Given the description of an element on the screen output the (x, y) to click on. 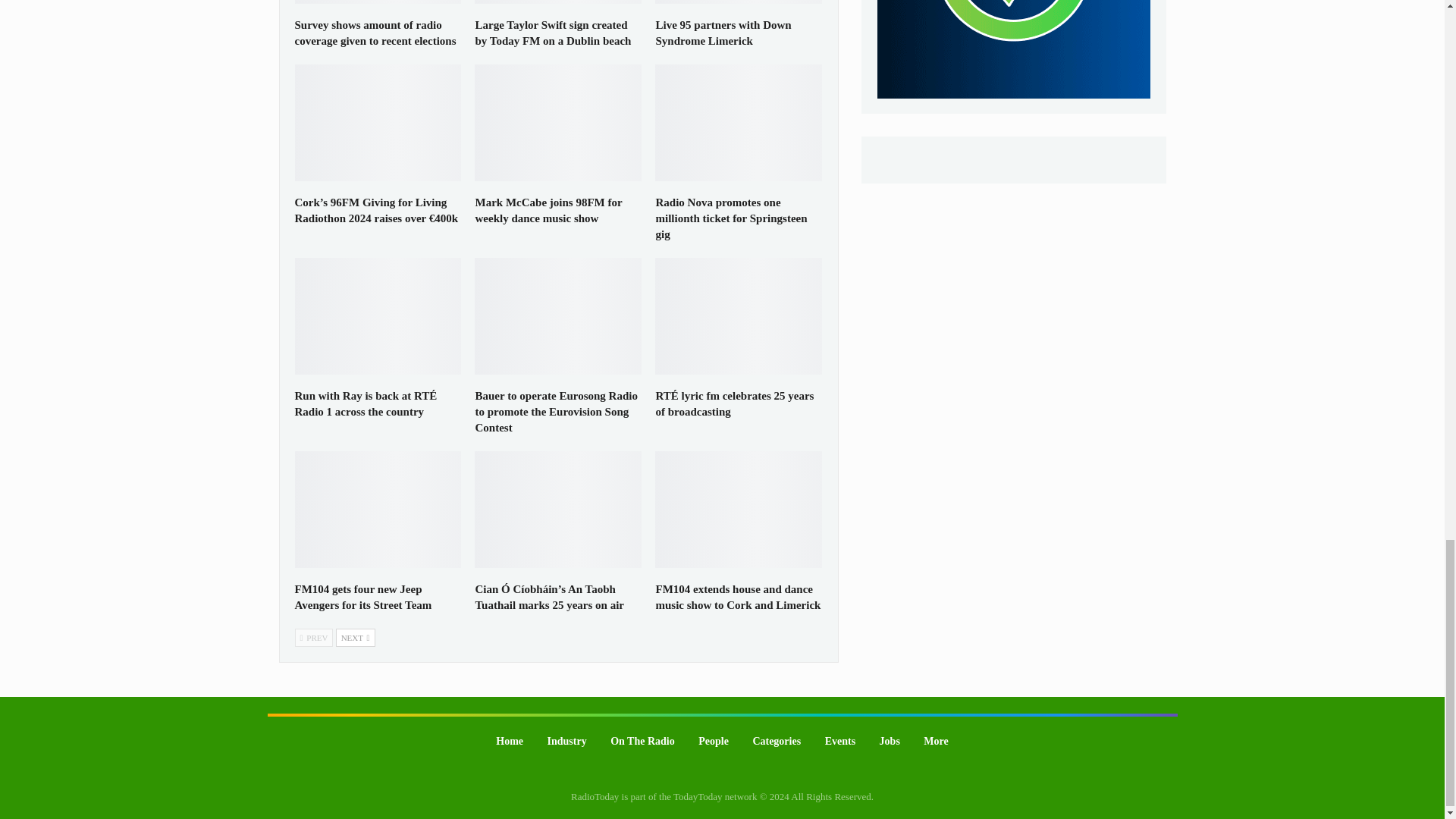
Mark McCabe joins 98FM for weekly dance music show (547, 210)
Live 95 partners with Down Syndrome Limerick (722, 32)
Live 95 partners with Down Syndrome Limerick (738, 2)
Radio Nova promotes one millionth ticket for Springsteen gig (738, 122)
Mark McCabe joins 98FM for weekly dance music show (558, 122)
Radio Nova promotes one millionth ticket for Springsteen gig (730, 218)
